Given the description of an element on the screen output the (x, y) to click on. 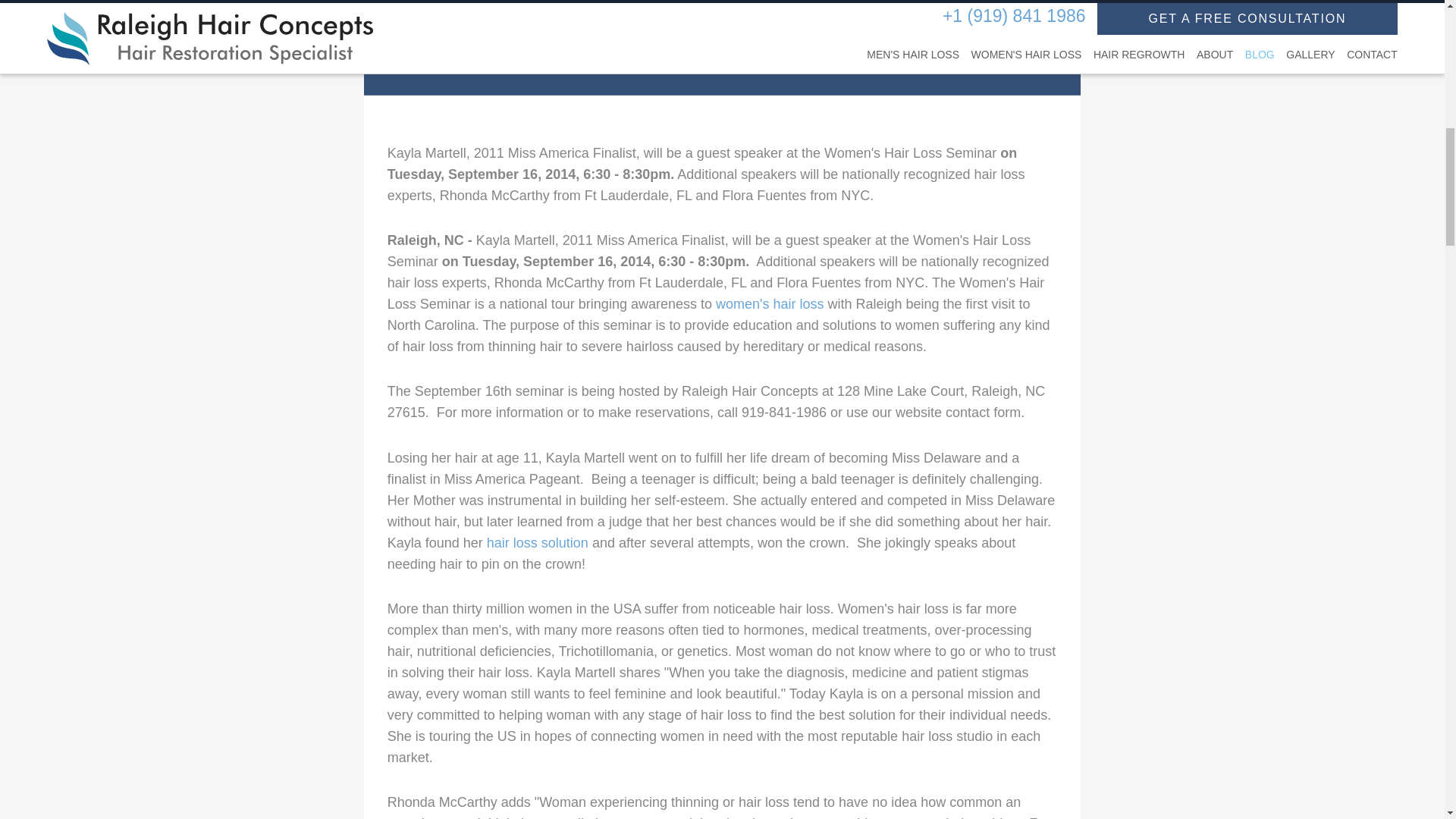
Back to Top (1415, 446)
